Given the description of an element on the screen output the (x, y) to click on. 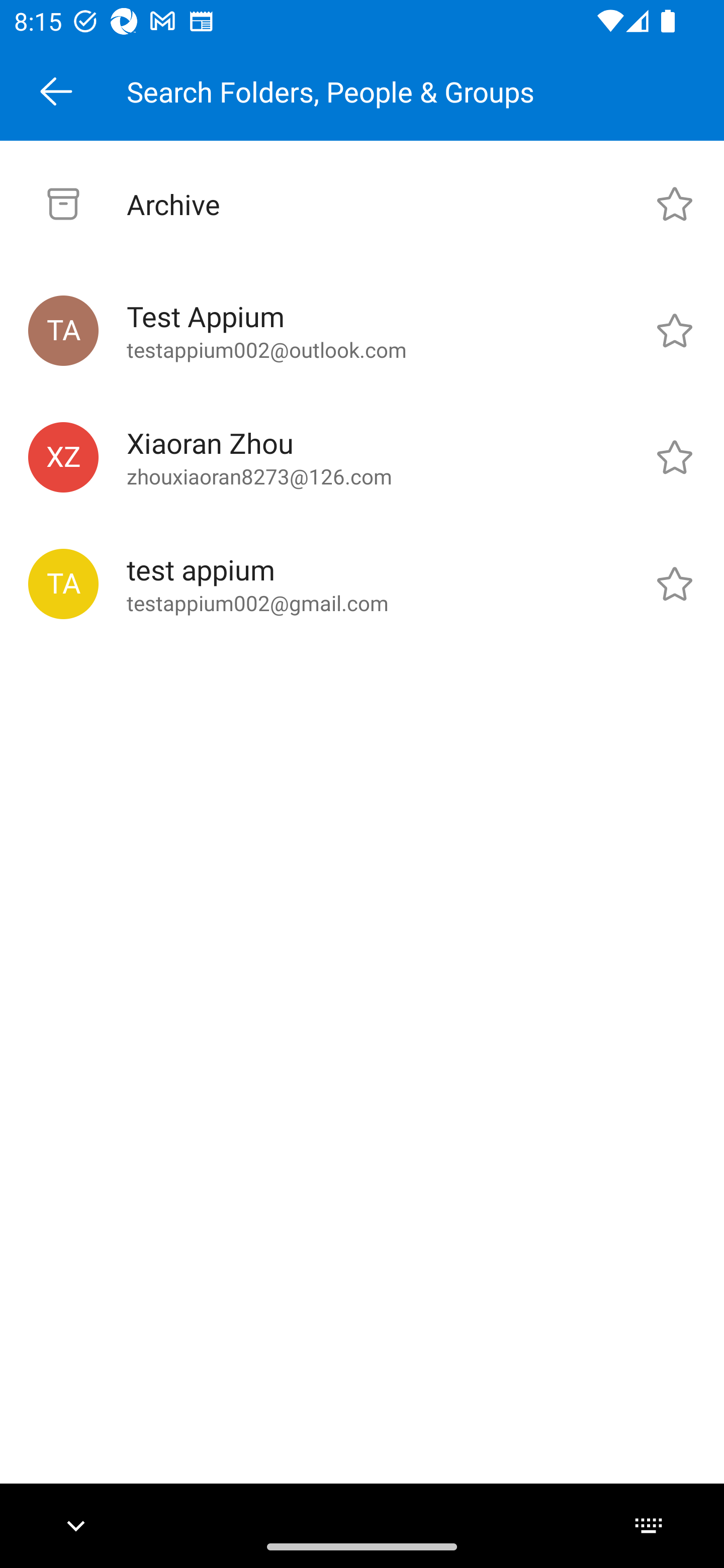
Back (55, 91)
Search Folders, People & Groups (418, 91)
Archive (362, 204)
